Given the description of an element on the screen output the (x, y) to click on. 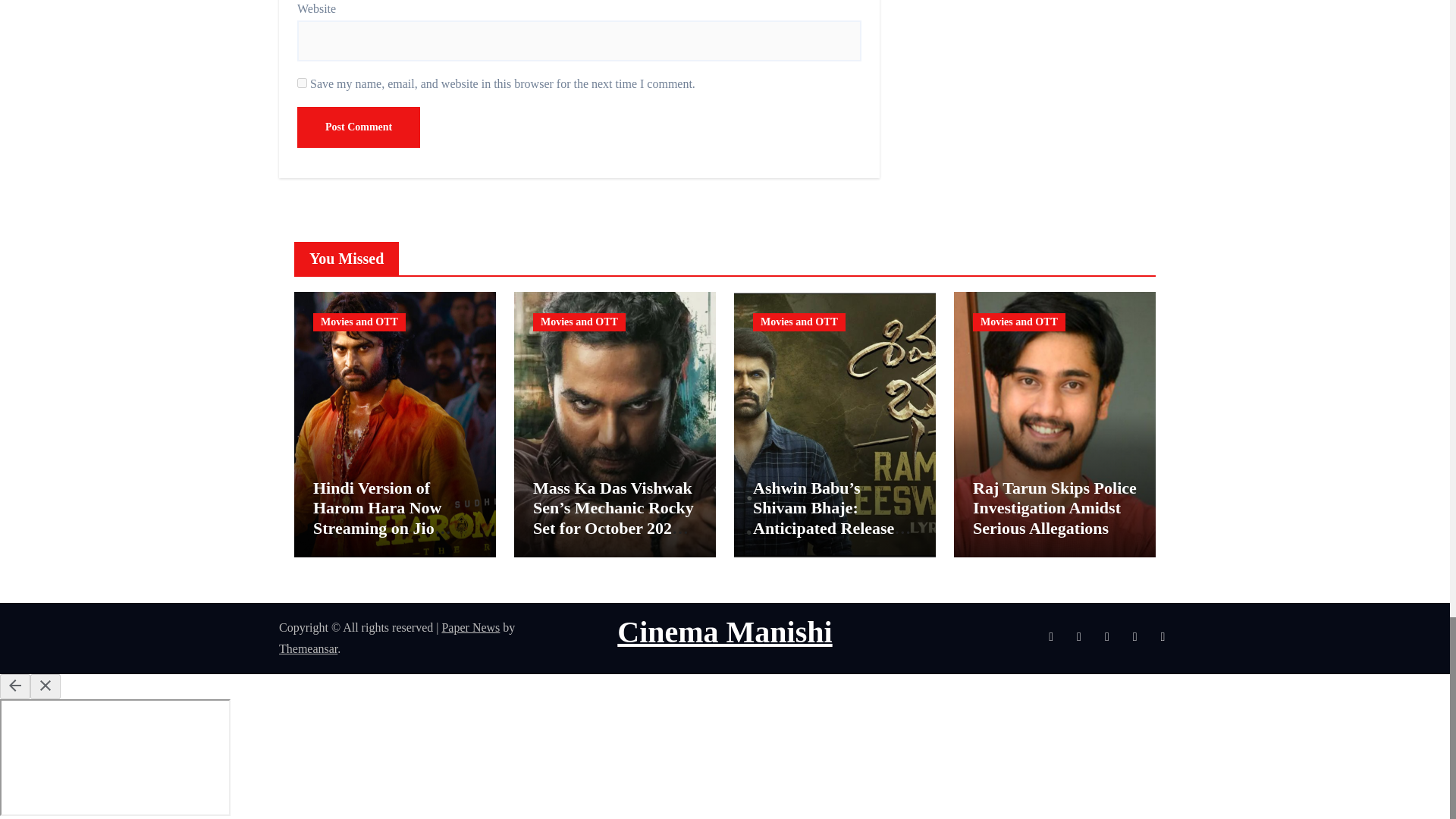
Post Comment (358, 127)
yes (302, 82)
